Given the description of an element on the screen output the (x, y) to click on. 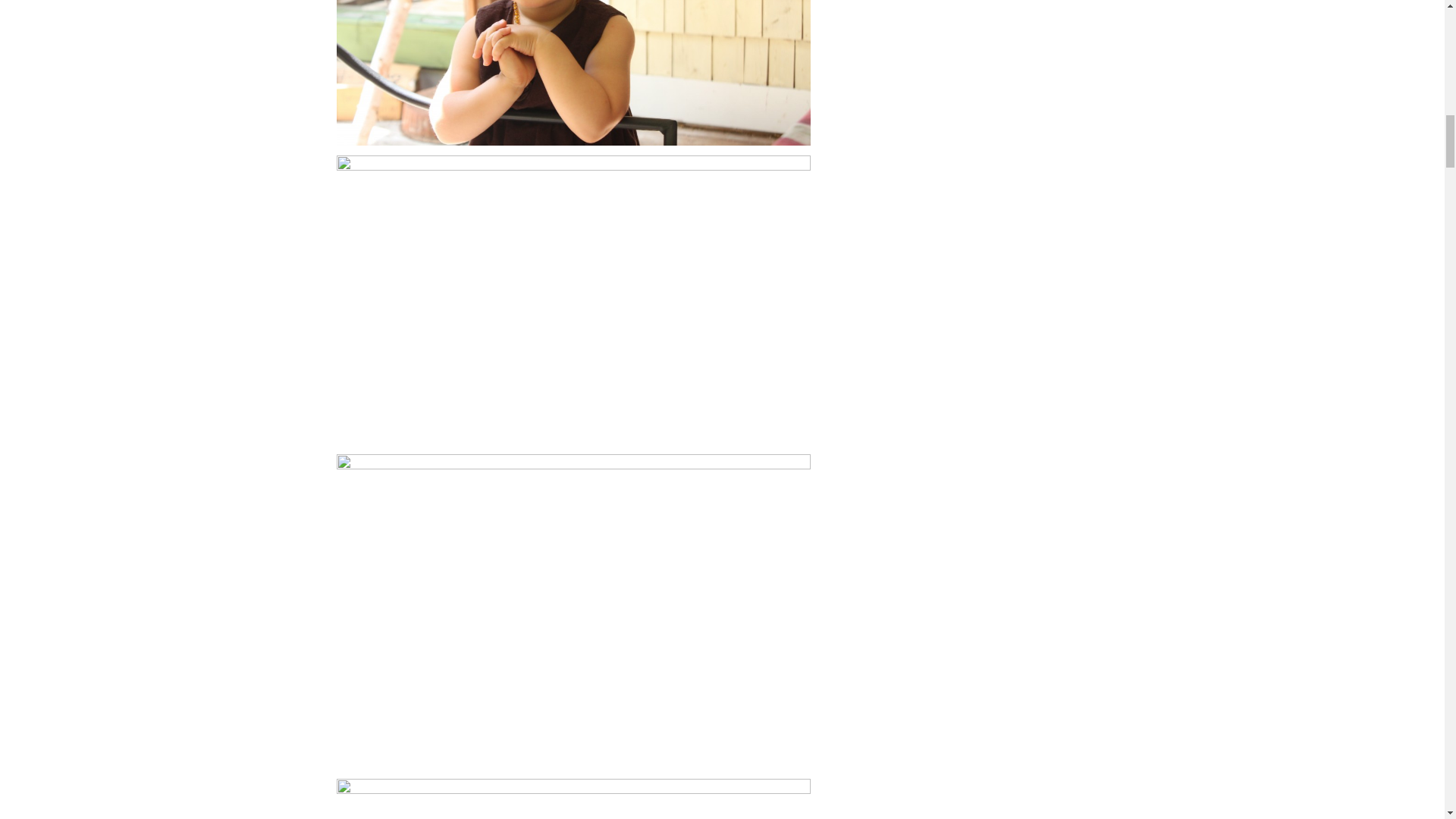
White Baneberry (573, 798)
